Given the description of an element on the screen output the (x, y) to click on. 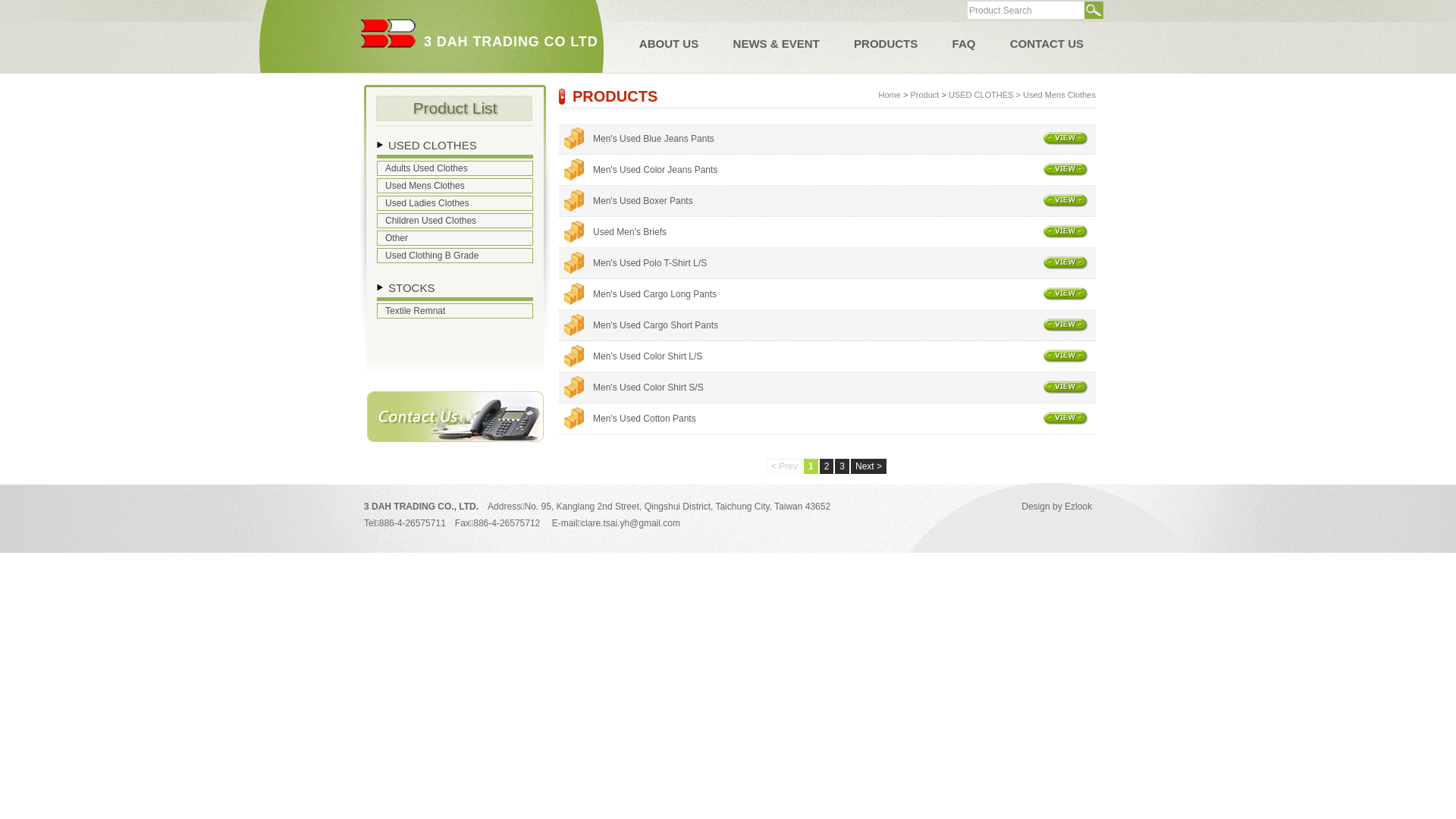
Men's Used Color Shirt S/S Element type: text (844, 387)
Men's Used Polo T-Shirt L/S Element type: text (844, 262)
PRODUCTS Element type: text (885, 43)
Used Clothing B Grade Element type: text (454, 255)
CONTACT US Element type: text (1046, 43)
contact.asp Element type: hover (455, 438)
Men's Used Blue Jeans Pants Element type: text (844, 138)
Other Element type: text (454, 237)
Used Ladies Clothes Element type: text (454, 202)
Used Mens Clothes Element type: text (1058, 94)
3 Element type: text (841, 465)
Product Search Element type: text (1025, 9)
ABOUT US Element type: text (668, 43)
Adults Used Clothes Element type: text (454, 167)
USED CLOTHES Element type: text (980, 94)
Men's Used Cargo Long Pants Element type: text (844, 293)
Men's Used Color Jeans Pants Element type: text (844, 169)
Men's Used Boxer Pants Element type: text (844, 200)
clare.tsai.yh@gmail.com Element type: text (630, 522)
Used Men's Briefs Element type: text (844, 231)
STOCKS Element type: text (411, 287)
Product Element type: text (924, 94)
Home Element type: text (889, 94)
NEWS & EVENT Element type: text (776, 43)
Used Mens Clothes Element type: text (454, 185)
Men's Used Color Shirt L/S Element type: text (844, 356)
Children Used Clothes Element type: text (454, 220)
Men's Used Cotton Pants Element type: text (844, 418)
2 Element type: text (826, 465)
USED CLOTHES Element type: text (432, 144)
FAQ Element type: text (964, 43)
Design Element type: text (1035, 506)
Textile Remnat Element type: text (454, 310)
Next > Element type: text (868, 465)
Ezlook Element type: text (1078, 506)
Men's Used Cargo Short Pants Element type: text (844, 324)
